Given the description of an element on the screen output the (x, y) to click on. 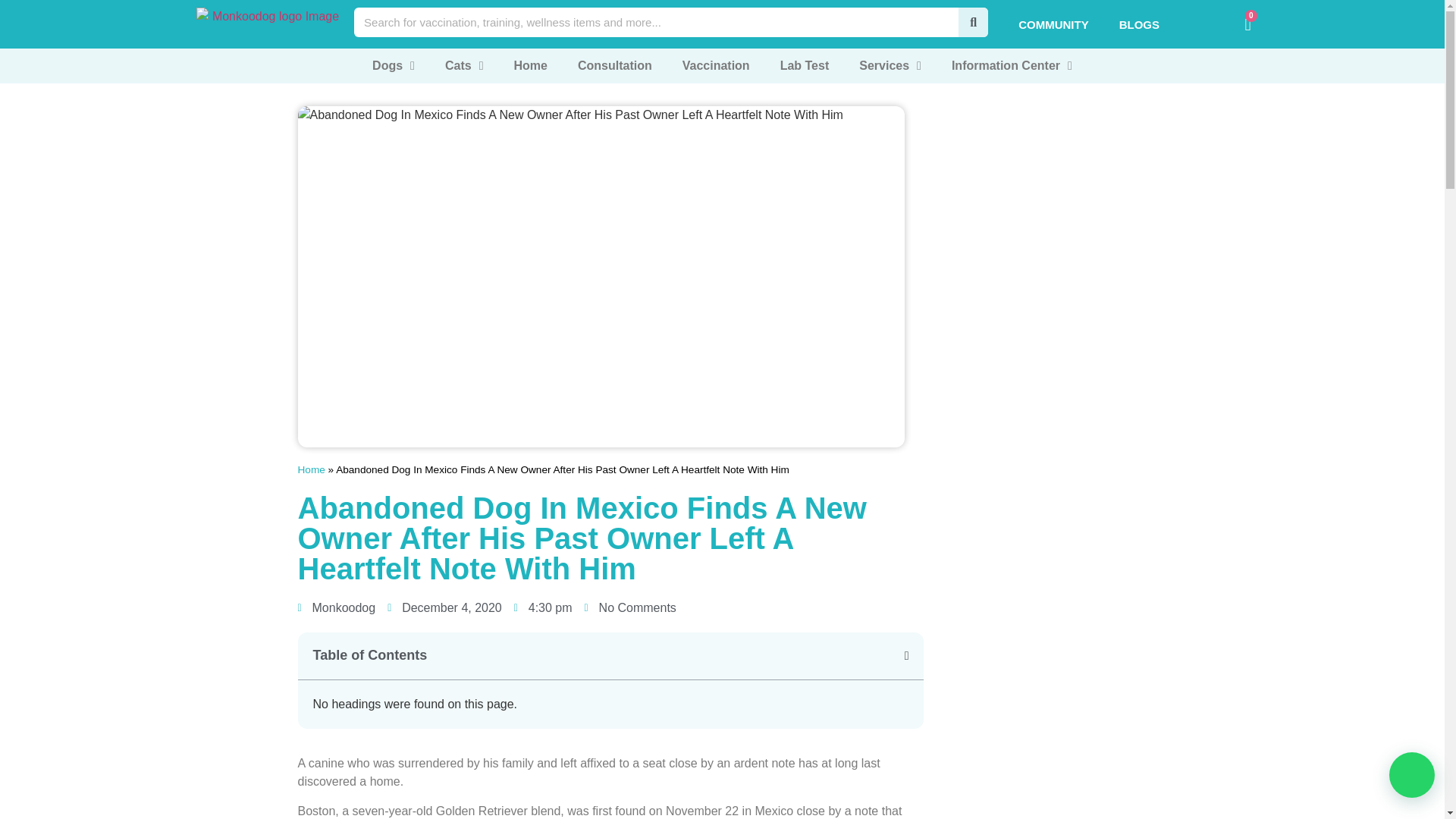
BLOGS (1138, 24)
Best Veterinary Service in India (267, 22)
COMMUNITY (1053, 24)
